Given the description of an element on the screen output the (x, y) to click on. 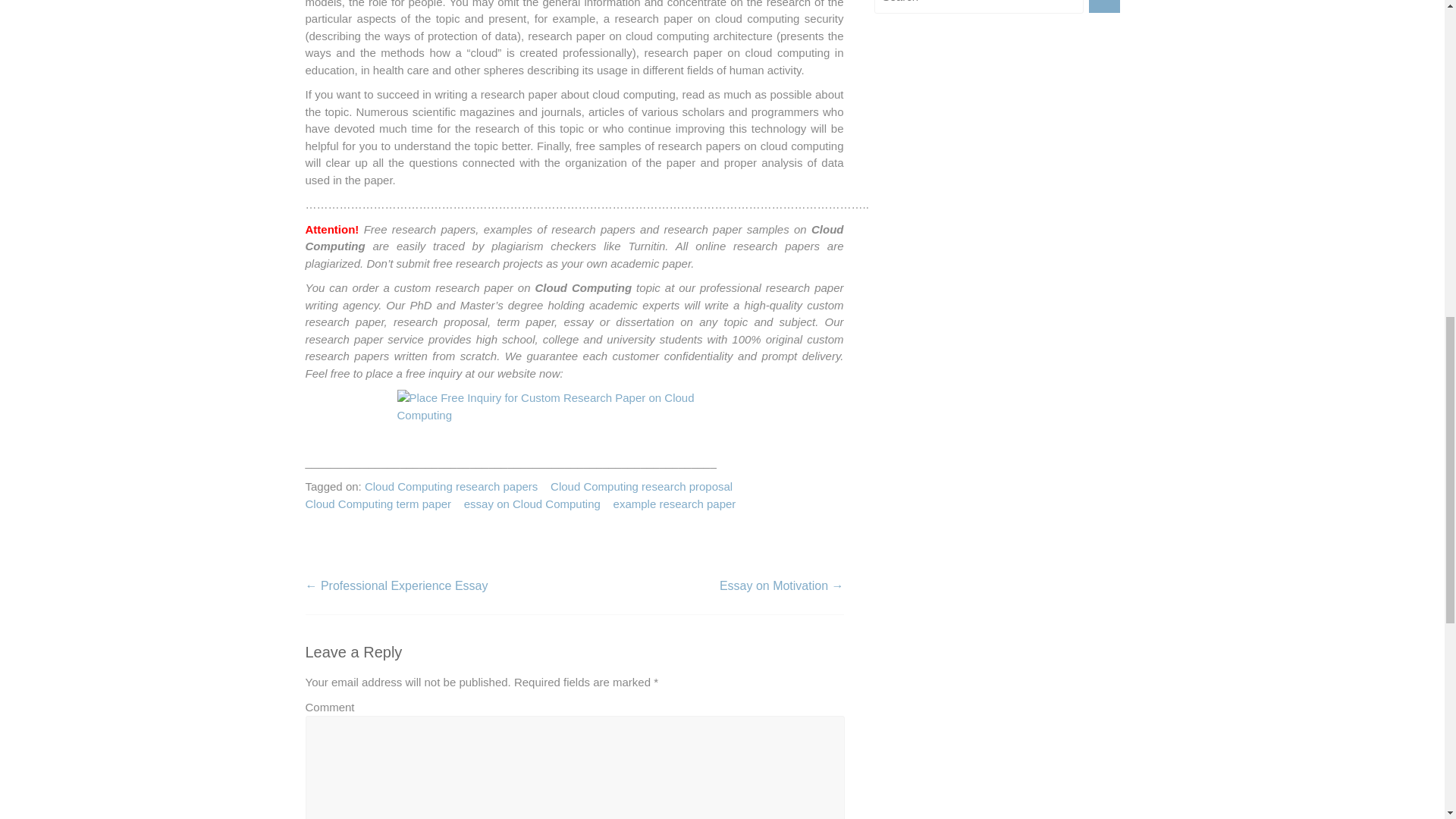
essay on Cloud Computing (531, 504)
example research paper (674, 504)
Cloud Computing research proposal (641, 487)
Cloud Computing term paper (377, 504)
Cloud Computing research papers (451, 487)
